Given the description of an element on the screen output the (x, y) to click on. 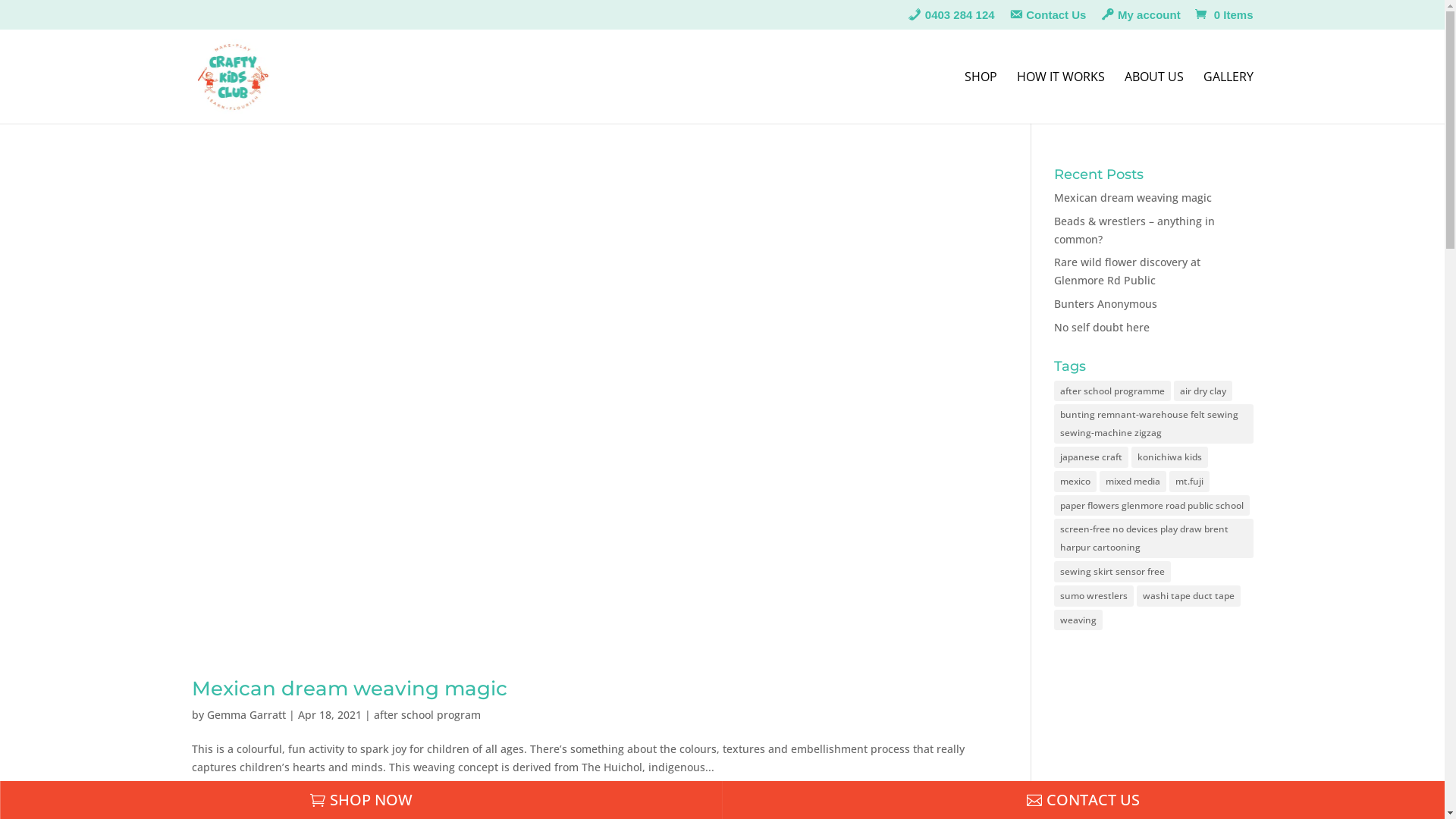
Mexican dream weaving magic Element type: text (348, 688)
konichiwa kids Element type: text (1169, 456)
HOW IT WORKS Element type: text (1060, 97)
Rare wild flower discovery at Glenmore Rd Public Element type: text (1127, 270)
0 Items Element type: text (1222, 14)
after school program Element type: text (426, 714)
weaving Element type: text (1078, 619)
Gemma Garratt Element type: text (245, 714)
My account Element type: text (1140, 19)
ABOUT US Element type: text (1153, 97)
washi tape duct tape Element type: text (1188, 595)
SHOP Element type: text (980, 97)
GALLERY Element type: text (1227, 97)
mt.fuji Element type: text (1189, 481)
screen-free no devices play draw brent harpur cartooning Element type: text (1153, 538)
japanese craft Element type: text (1091, 456)
Mexican dream weaving magic Element type: text (1132, 197)
mixed media Element type: text (1132, 481)
mexico Element type: text (1075, 481)
0403 284 124 Element type: text (950, 19)
sumo wrestlers Element type: text (1093, 595)
sewing skirt sensor free Element type: text (1112, 571)
air dry clay Element type: text (1202, 390)
paper flowers glenmore road public school Element type: text (1151, 505)
No self doubt here Element type: text (1101, 327)
after school programme Element type: text (1112, 390)
bunting remnant-warehouse felt sewing sewing-machine zigzag Element type: text (1153, 423)
Bunters Anonymous Element type: text (1105, 303)
Contact Us Element type: text (1047, 19)
